Given the description of an element on the screen output the (x, y) to click on. 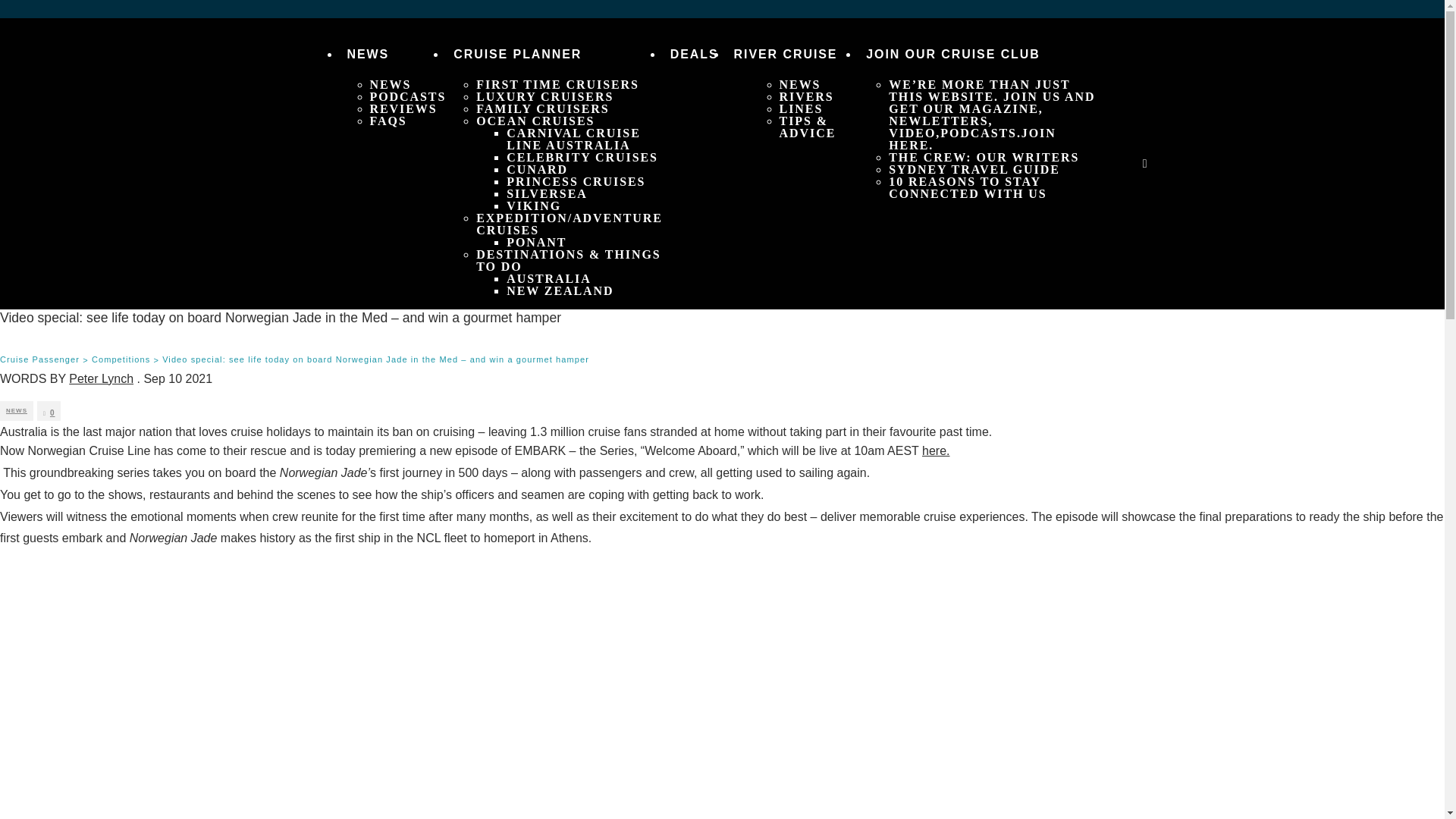
CELEBRITY CRUISES (582, 156)
REVIEWS (403, 108)
FAQS (388, 120)
NEWS (799, 83)
VIKING (533, 205)
AUSTRALIA (548, 278)
FIRST TIME CRUISERS (557, 83)
RIVERS (806, 96)
Peter Lynch (100, 378)
RIVER CRUISE (785, 54)
